Given the description of an element on the screen output the (x, y) to click on. 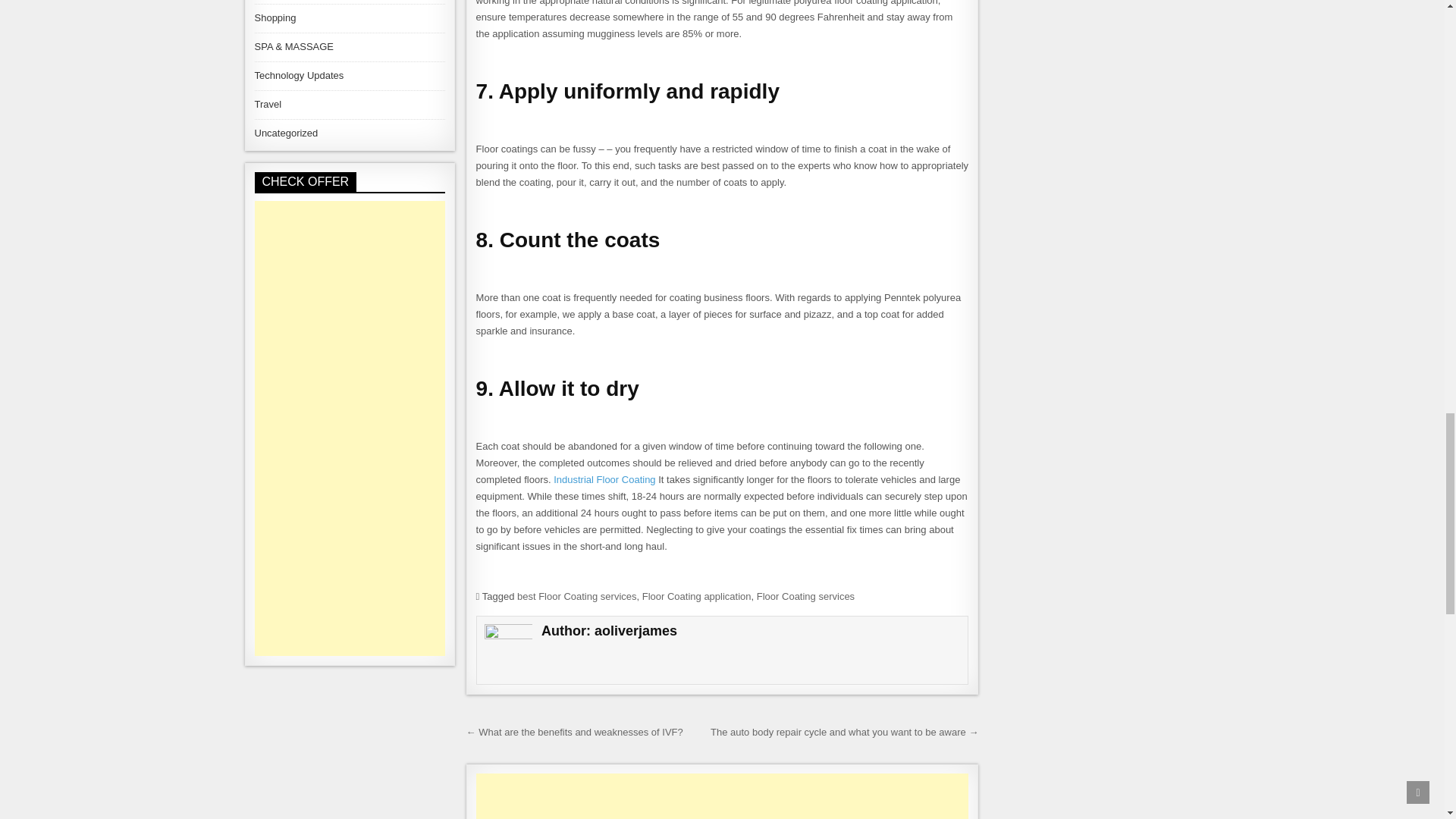
Industrial Floor Coating (604, 479)
best Floor Coating services (576, 595)
Floor Coating services (805, 595)
Floor Coating application (696, 595)
